Given the description of an element on the screen output the (x, y) to click on. 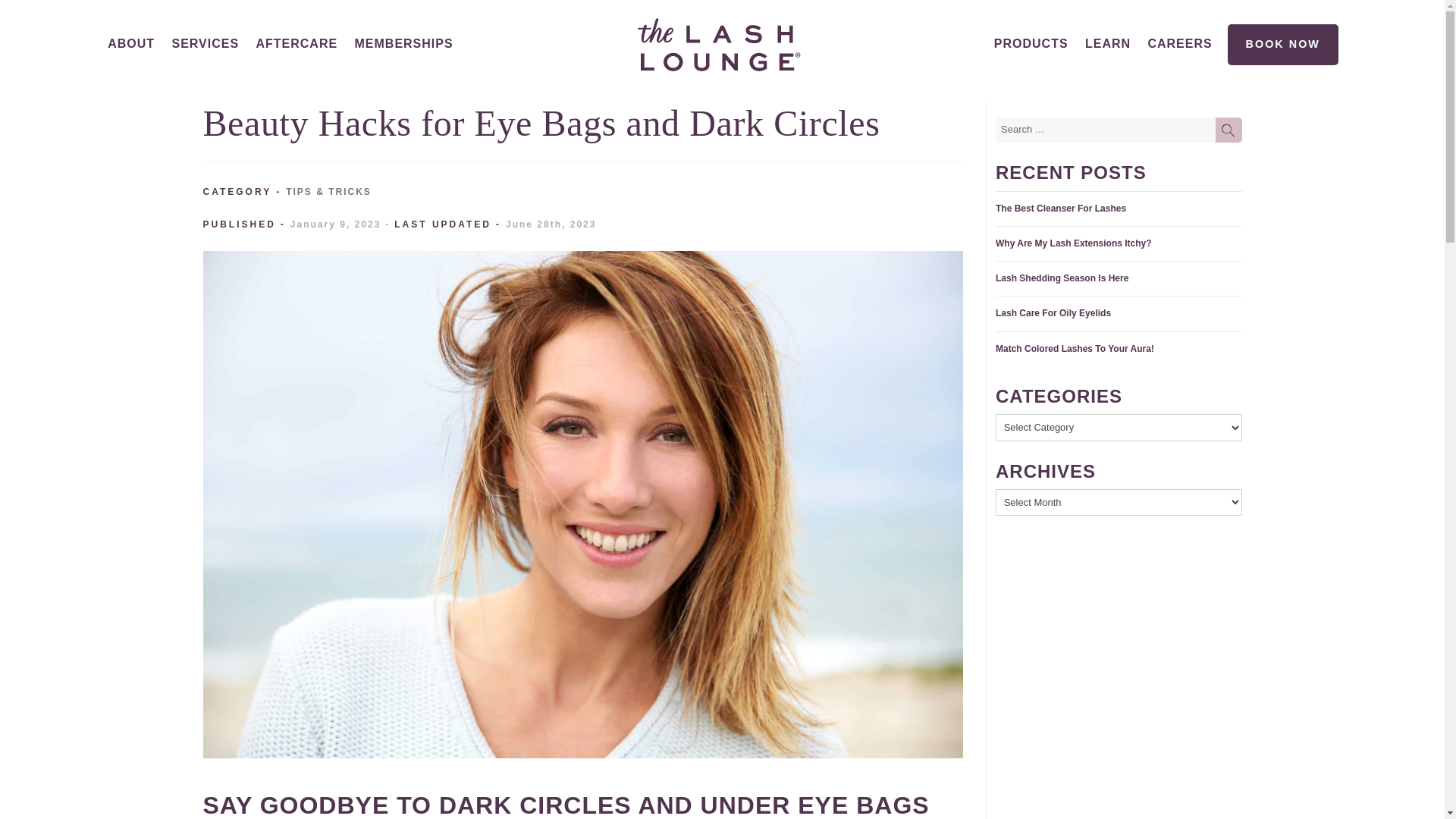
MEMBERSHIPS (403, 44)
ABOUT (131, 43)
PRODUCTS (1031, 44)
LEARN (1107, 43)
SERVICES (205, 43)
BOOK NOW (1282, 44)
AFTERCARE (296, 43)
CAREERS (1179, 43)
